Given the description of an element on the screen output the (x, y) to click on. 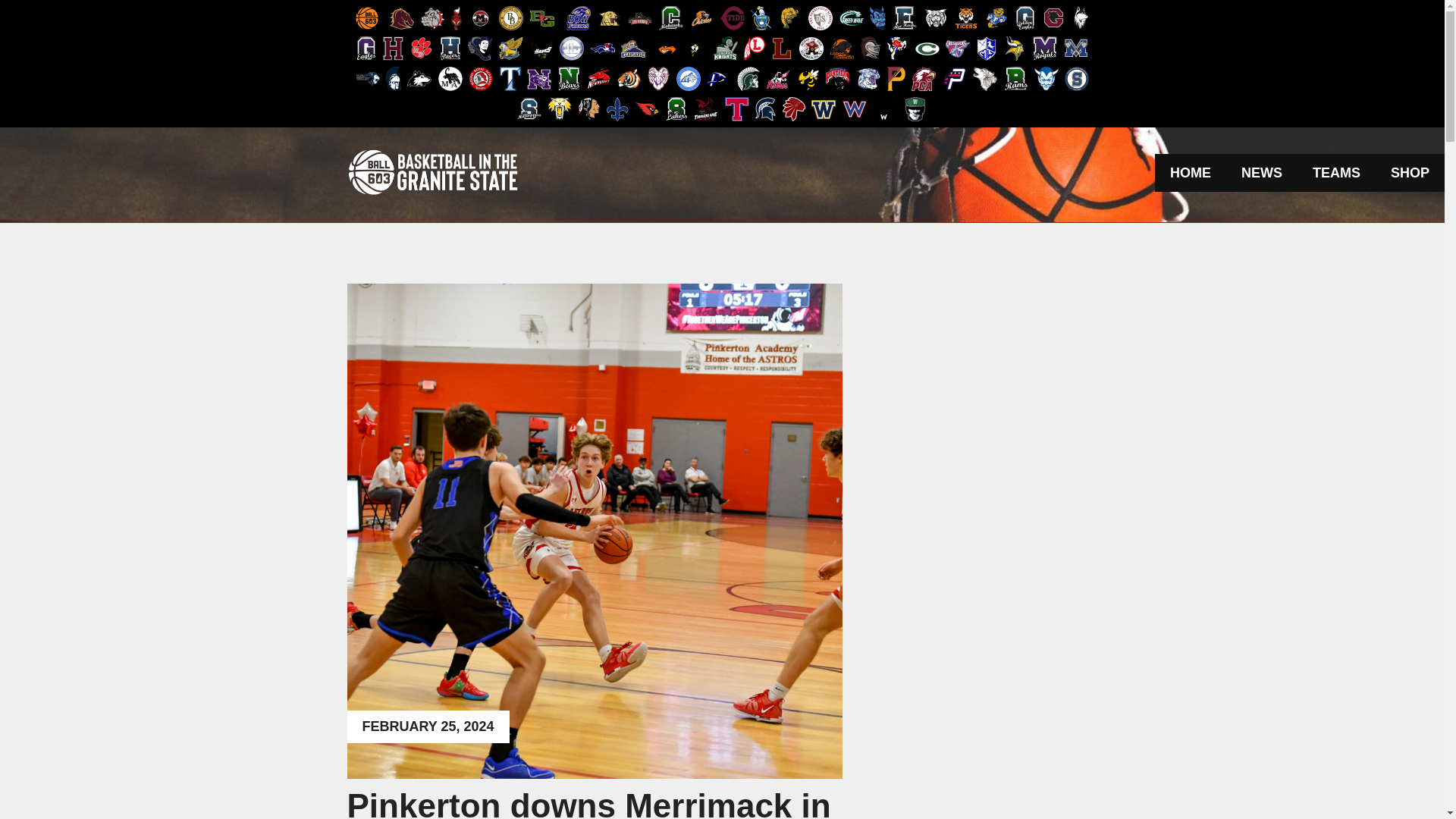
Bishop Guertin (541, 18)
Campbell (608, 17)
Concord (732, 17)
Alvirne (401, 18)
Berlin (480, 18)
Colebrook (670, 17)
Bishop Brady (510, 17)
Coe-Brown (639, 18)
Bow (578, 17)
Bedford (432, 18)
Conant (700, 17)
